Given the description of an element on the screen output the (x, y) to click on. 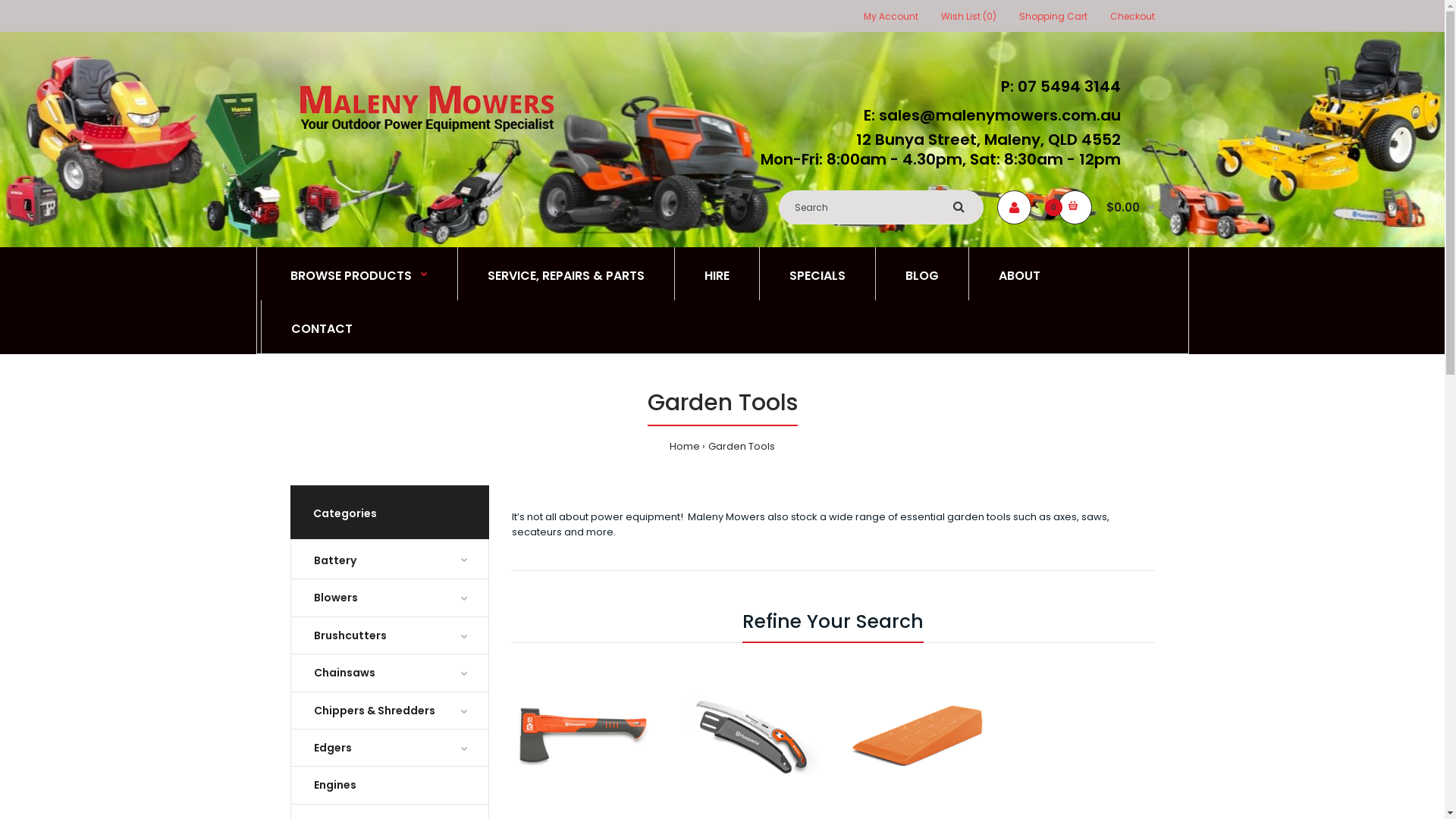
Wish List (0) Element type: text (967, 15)
Engines Element type: text (390, 784)
SPECIALS Element type: text (817, 273)
Home Element type: text (684, 446)
My Account Element type: text (889, 15)
BROWSE PRODUCTS Element type: text (358, 273)
0
$0.00 Element type: text (1105, 207)
Maleny Mowers Element type: hover (425, 108)
Blowers Element type: text (390, 597)
ABOUT Element type: text (1019, 273)
Brushcutters Element type: text (390, 635)
Shopping Cart Element type: text (1053, 15)
CONTACT Element type: text (320, 326)
P: 07 5494 3144 Element type: text (1056, 86)
Battery Element type: text (390, 558)
E: sales@malenymowers.com.au Element type: text (987, 114)
HIRE Element type: text (716, 273)
SERVICE, REPAIRS & PARTS Element type: text (566, 273)
Edgers Element type: text (390, 747)
Checkout Element type: text (1132, 15)
Garden Tools Element type: text (741, 446)
Chainsaws Element type: text (390, 672)
Chippers & Shredders Element type: text (390, 710)
BLOG Element type: text (921, 273)
